Given the description of an element on the screen output the (x, y) to click on. 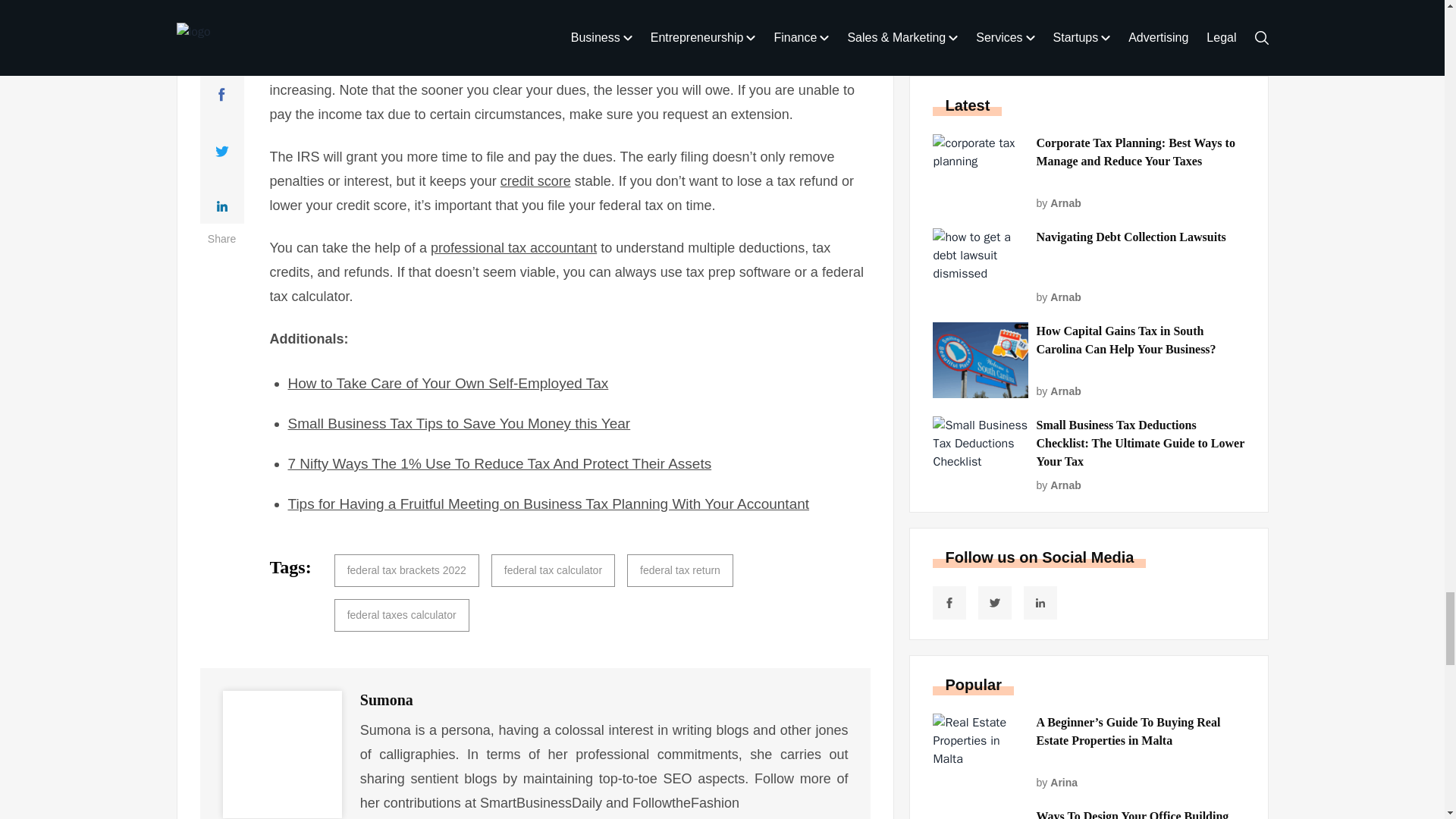
Posts by Sumona (386, 699)
